Given the description of an element on the screen output the (x, y) to click on. 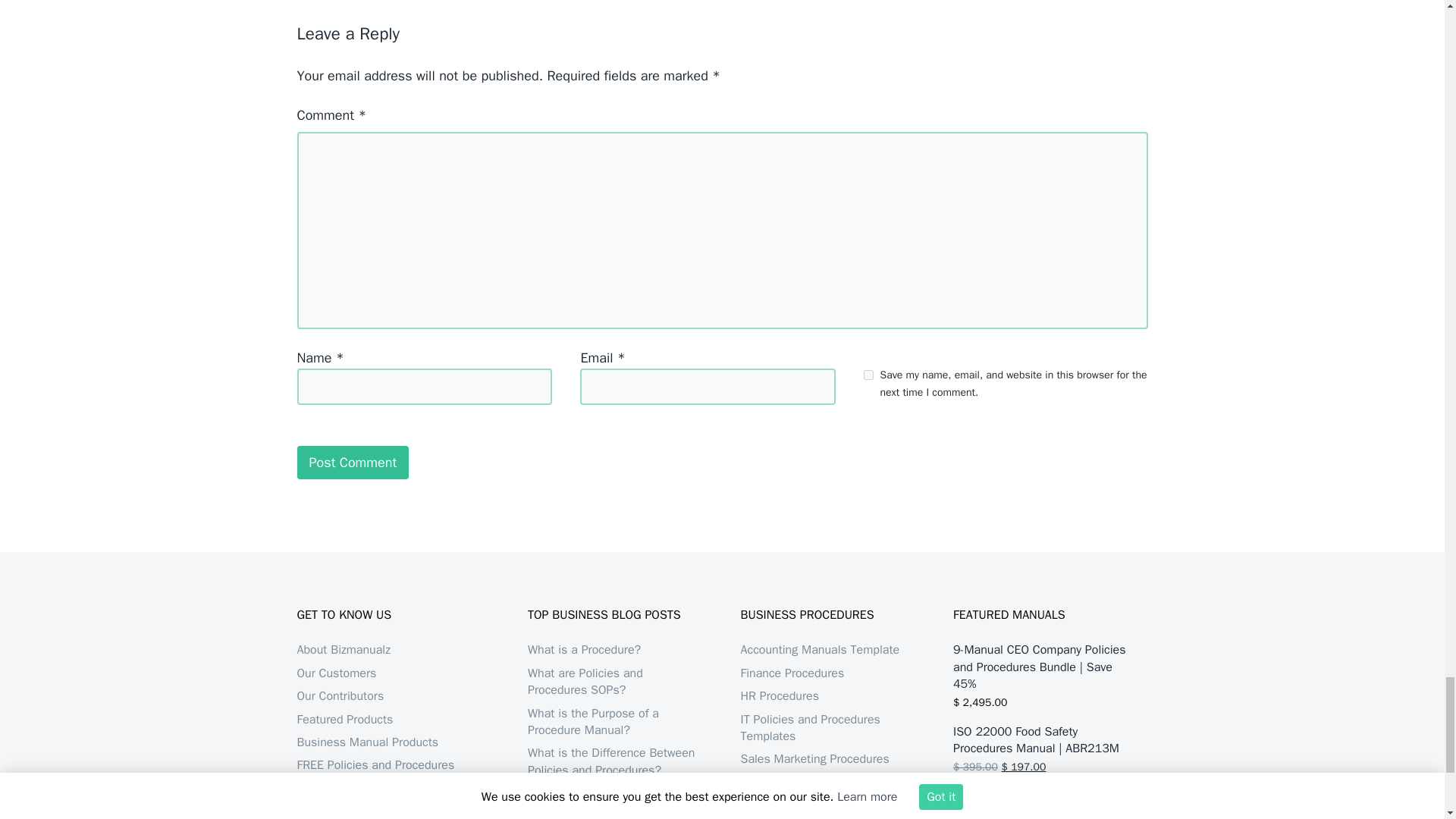
Post Comment (353, 462)
yes (868, 375)
